Given the description of an element on the screen output the (x, y) to click on. 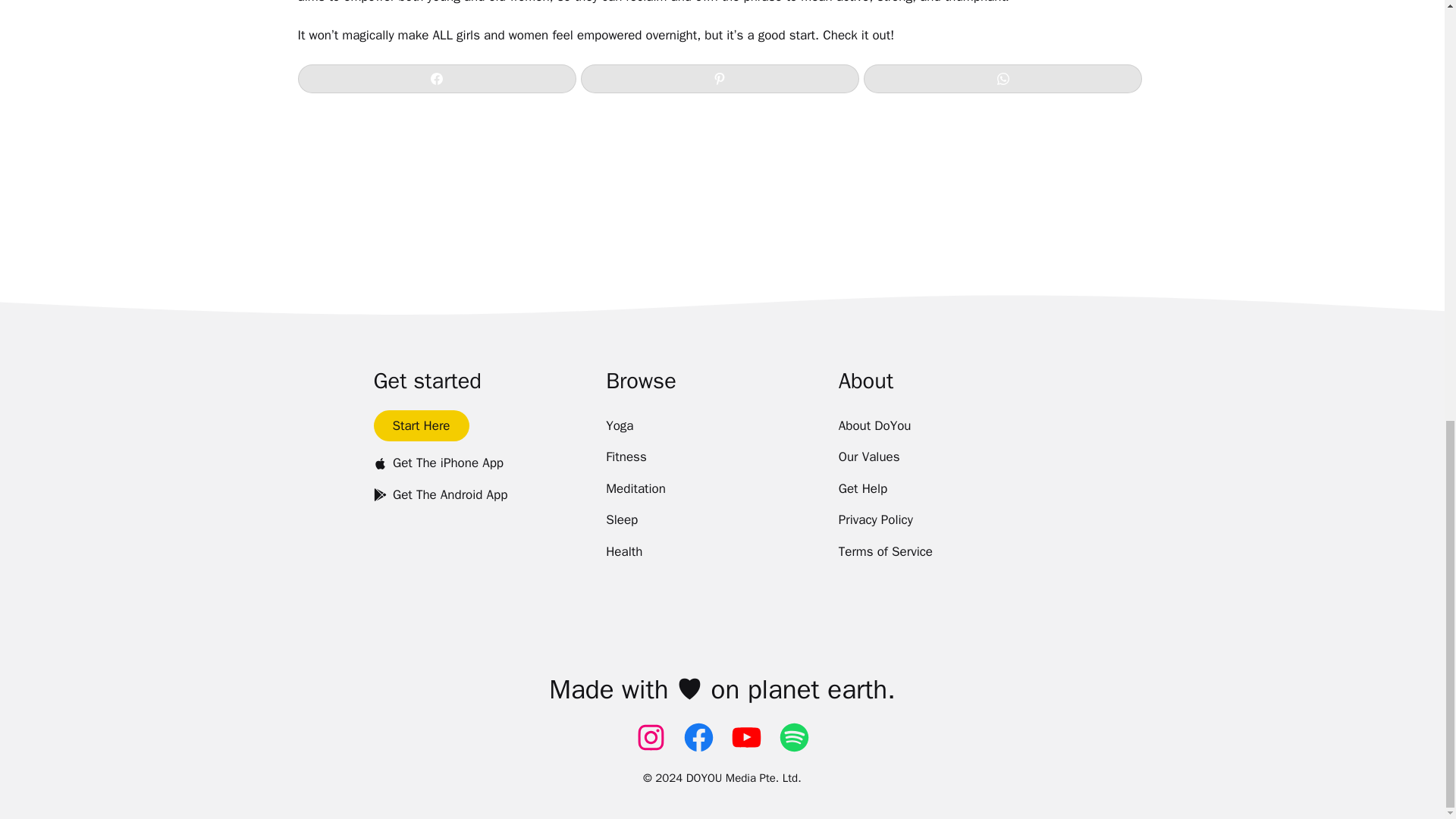
Get The iPhone App (437, 463)
Sleep (621, 520)
Get Help (863, 489)
Fitness (625, 457)
About DoYou (874, 426)
Meditation (635, 489)
Privacy Policy (875, 520)
Our Values (868, 457)
Start Here (420, 426)
Get The Android App (439, 495)
